Given the description of an element on the screen output the (x, y) to click on. 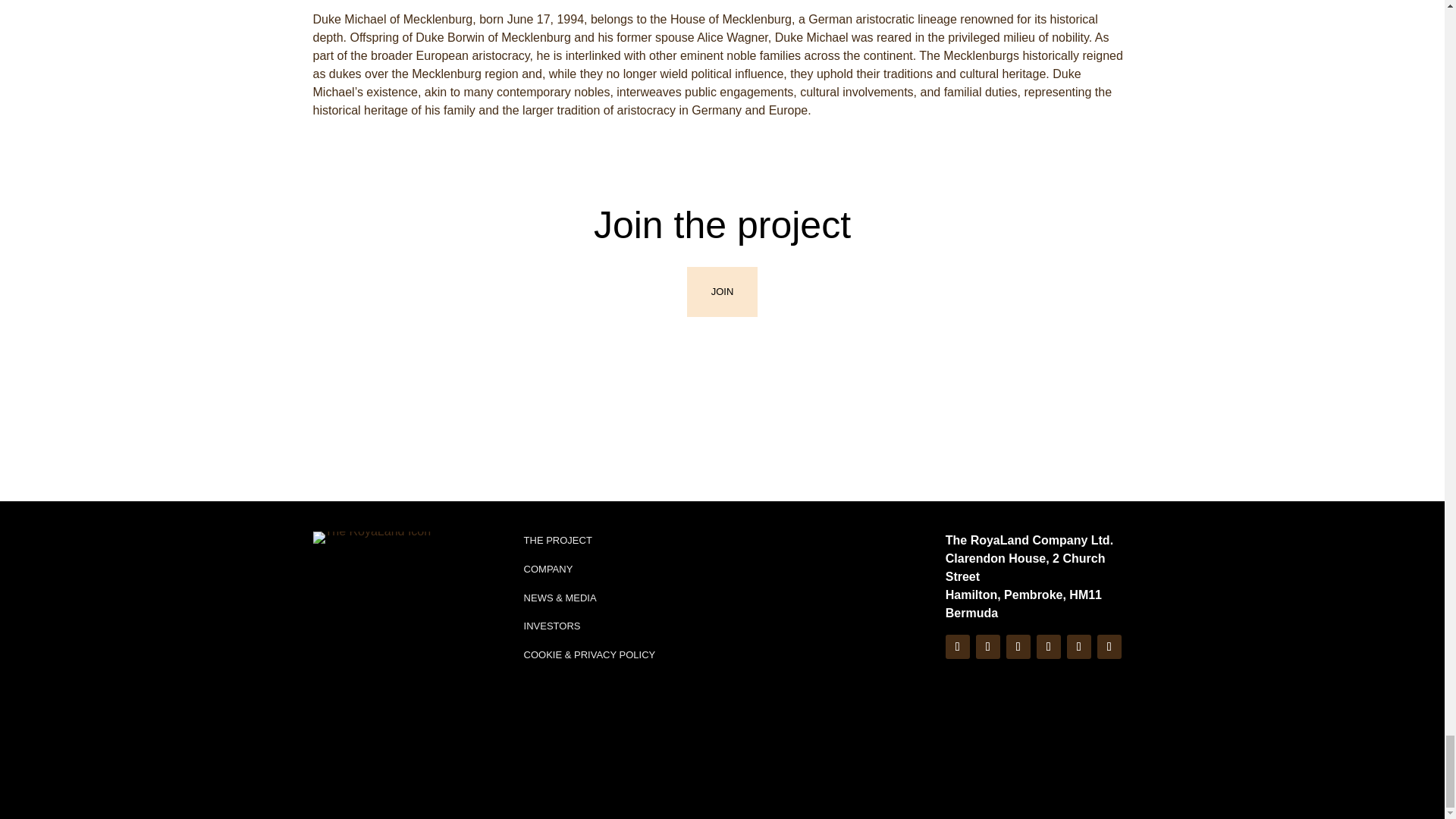
JOIN (722, 291)
THE PROJECT (558, 540)
Icona RoyaLand (371, 537)
INVESTORS (552, 625)
COMPANY (548, 568)
